Given the description of an element on the screen output the (x, y) to click on. 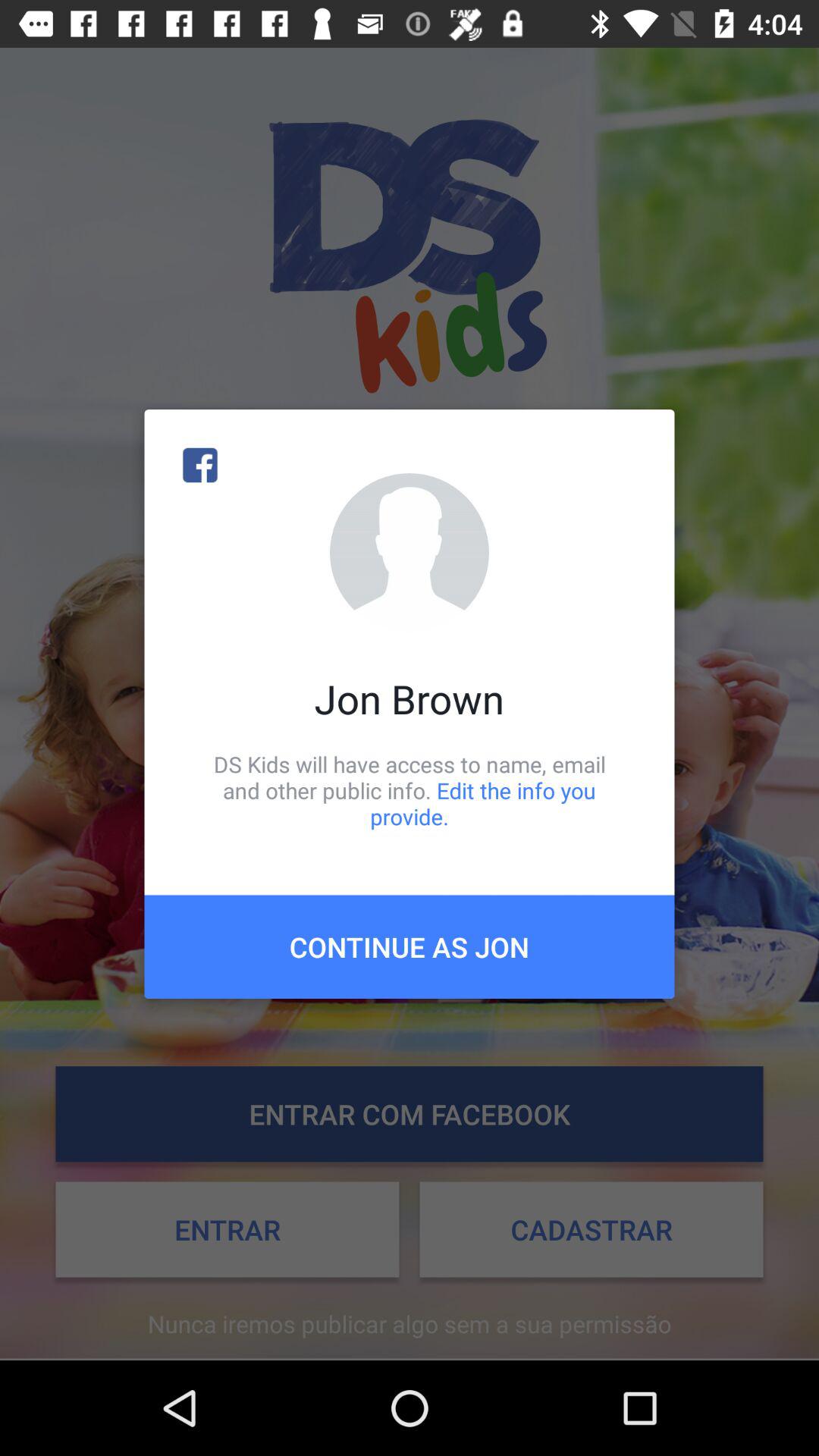
tap the ds kids will (409, 790)
